Given the description of an element on the screen output the (x, y) to click on. 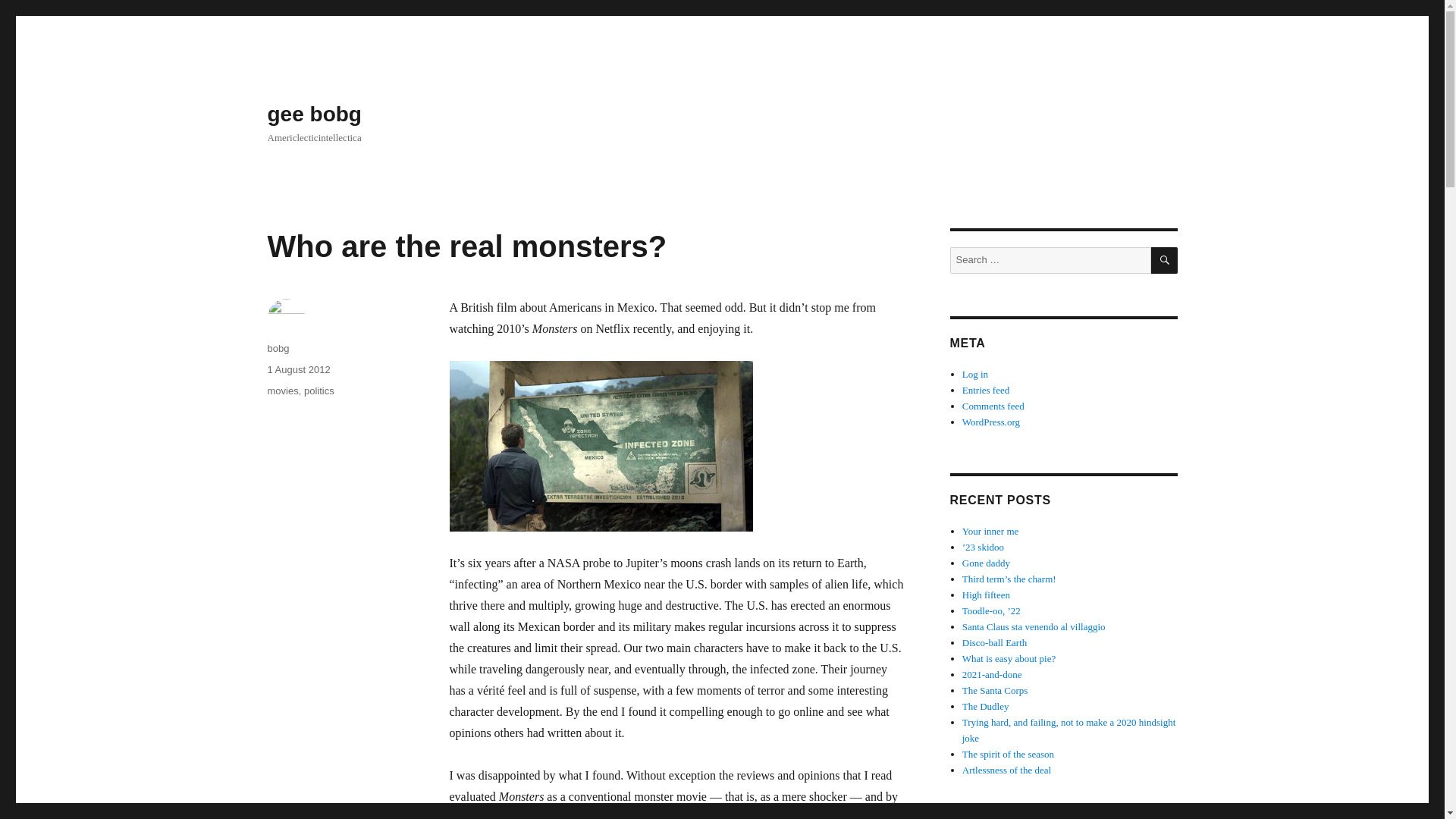
gee bobg (313, 114)
Comments feed (993, 405)
Gone daddy (986, 562)
SEARCH (1164, 260)
The spirit of the season (1008, 754)
Disco-ball Earth (994, 642)
Santa Claus sta venendo al villaggio (1033, 626)
The Dudley (985, 706)
What is easy about pie? (1008, 658)
Your inner me (990, 531)
